Given the description of an element on the screen output the (x, y) to click on. 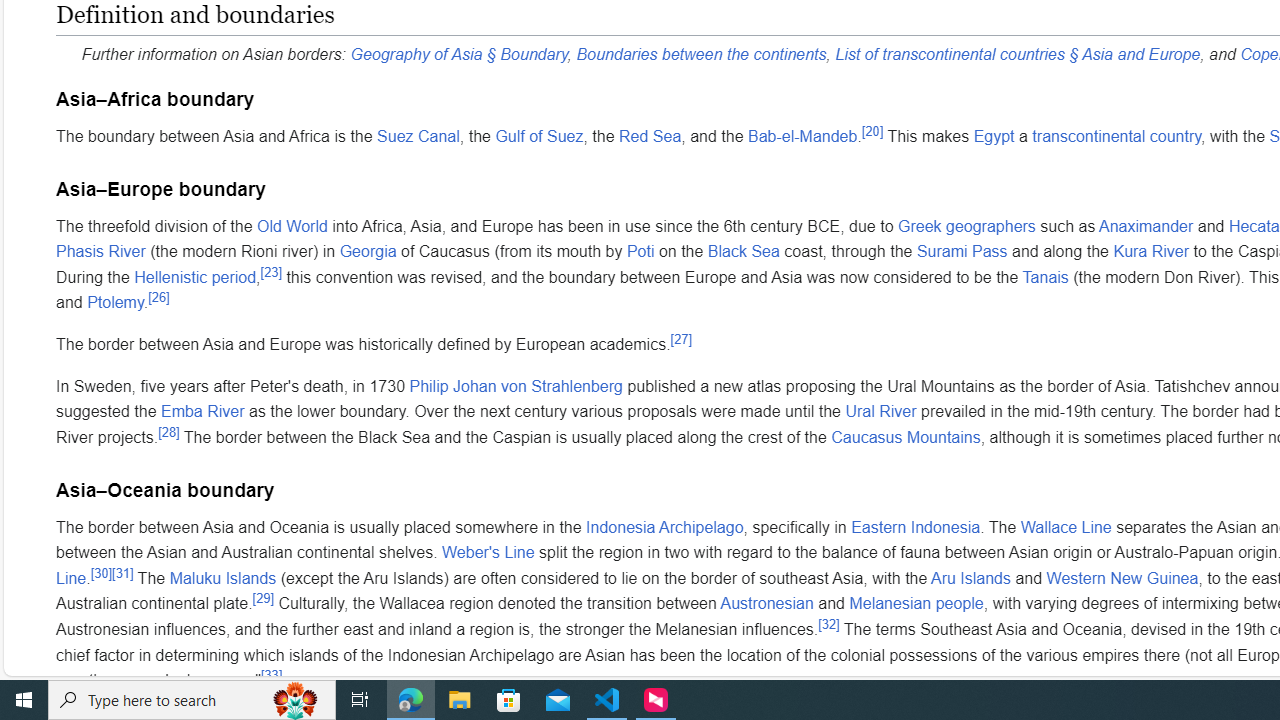
Greek geographers (966, 225)
Wallace Line (1066, 526)
Anaximander (1146, 225)
Egypt (993, 135)
Eastern Indonesia (915, 526)
Georgia (367, 251)
Kura River (1151, 251)
[23] (270, 272)
[28] (168, 431)
Suez Canal (418, 135)
Hellenistic period (195, 276)
[30] (100, 573)
Phasis River (100, 251)
Tanais (1044, 276)
